Given the description of an element on the screen output the (x, y) to click on. 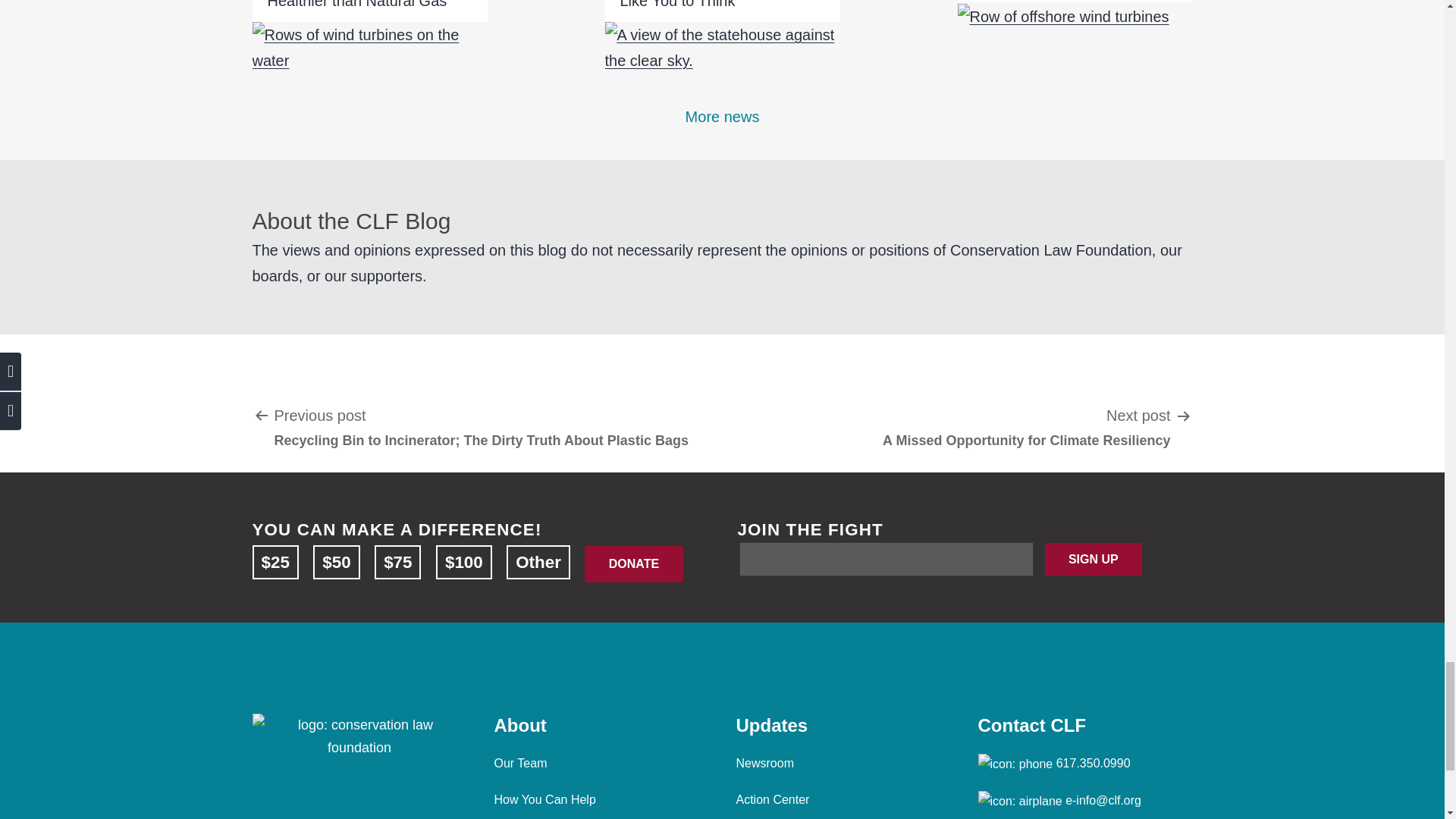
SIGN UP (1093, 559)
